Given the description of an element on the screen output the (x, y) to click on. 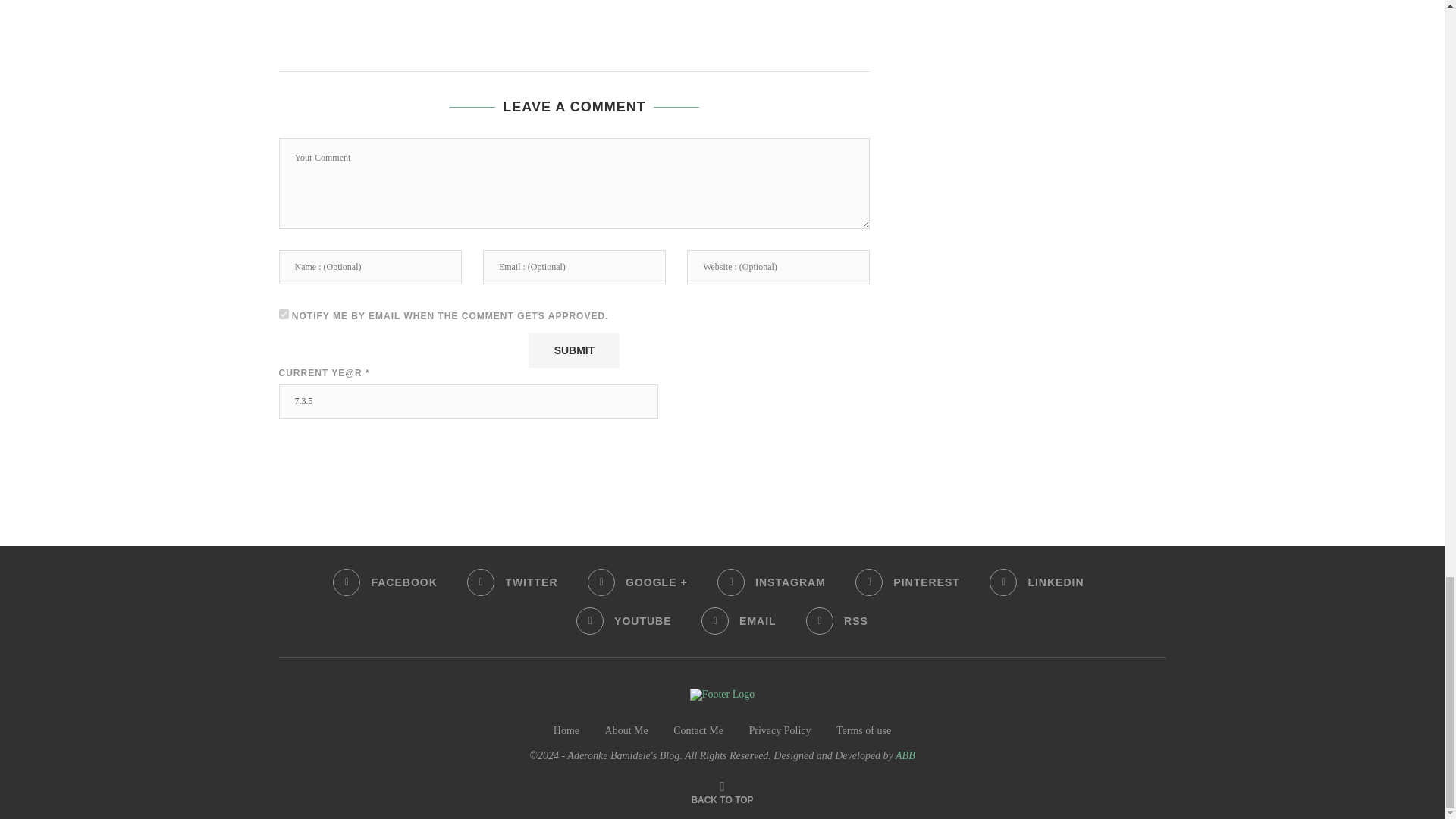
1 (283, 314)
Submit (574, 349)
7.3.5 (468, 401)
